Given the description of an element on the screen output the (x, y) to click on. 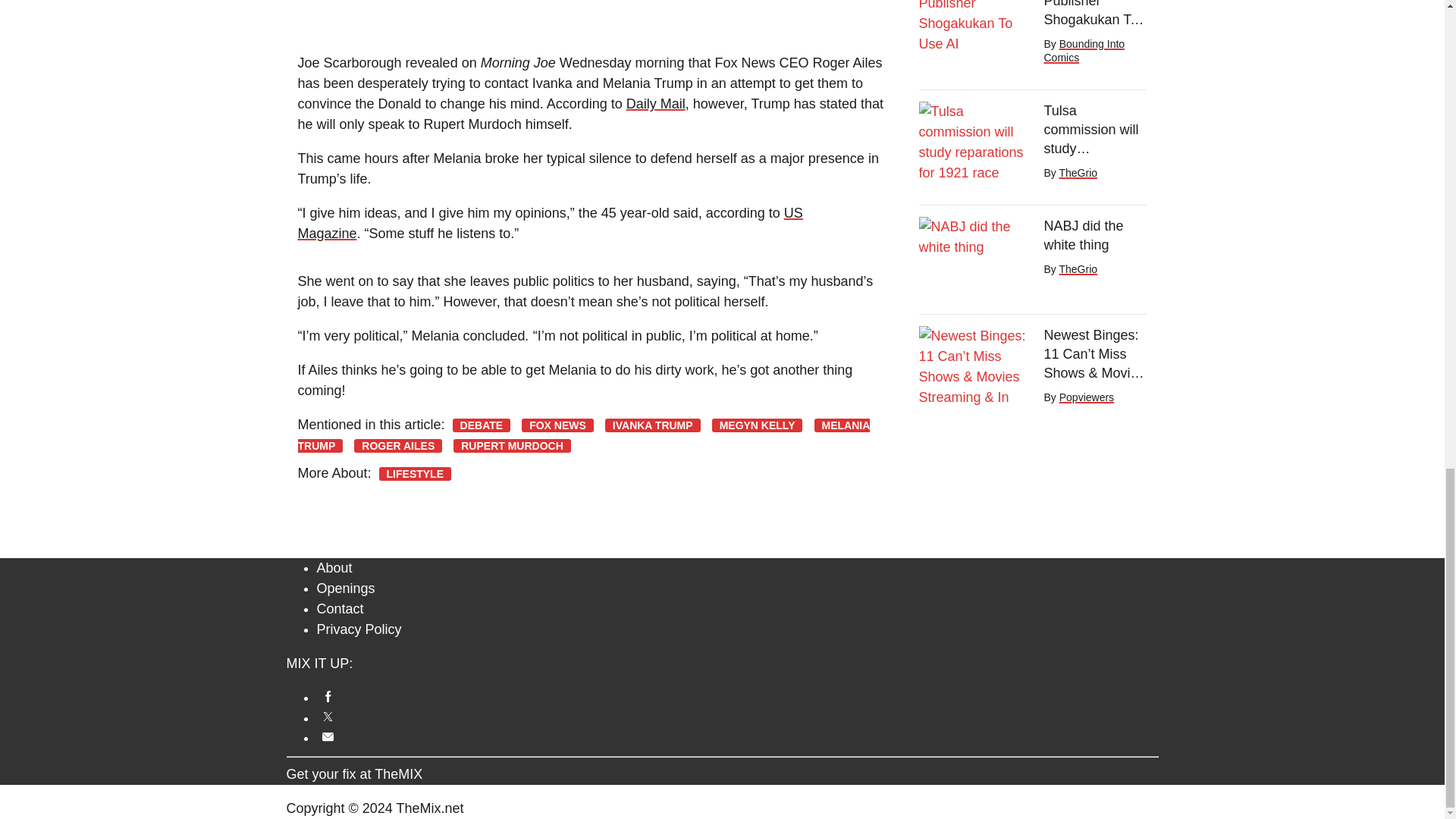
MEGYN KELLY (757, 425)
FOX NEWS (557, 425)
IVANKA TRUMP (652, 425)
ROGER AILES (397, 445)
MELANIA TRUMP (583, 435)
RUPERT MURDOCH (511, 445)
Follow us on Facebook (737, 696)
LIFESTYLE (414, 473)
Daily Mail (655, 103)
DEBATE (481, 425)
